Given the description of an element on the screen output the (x, y) to click on. 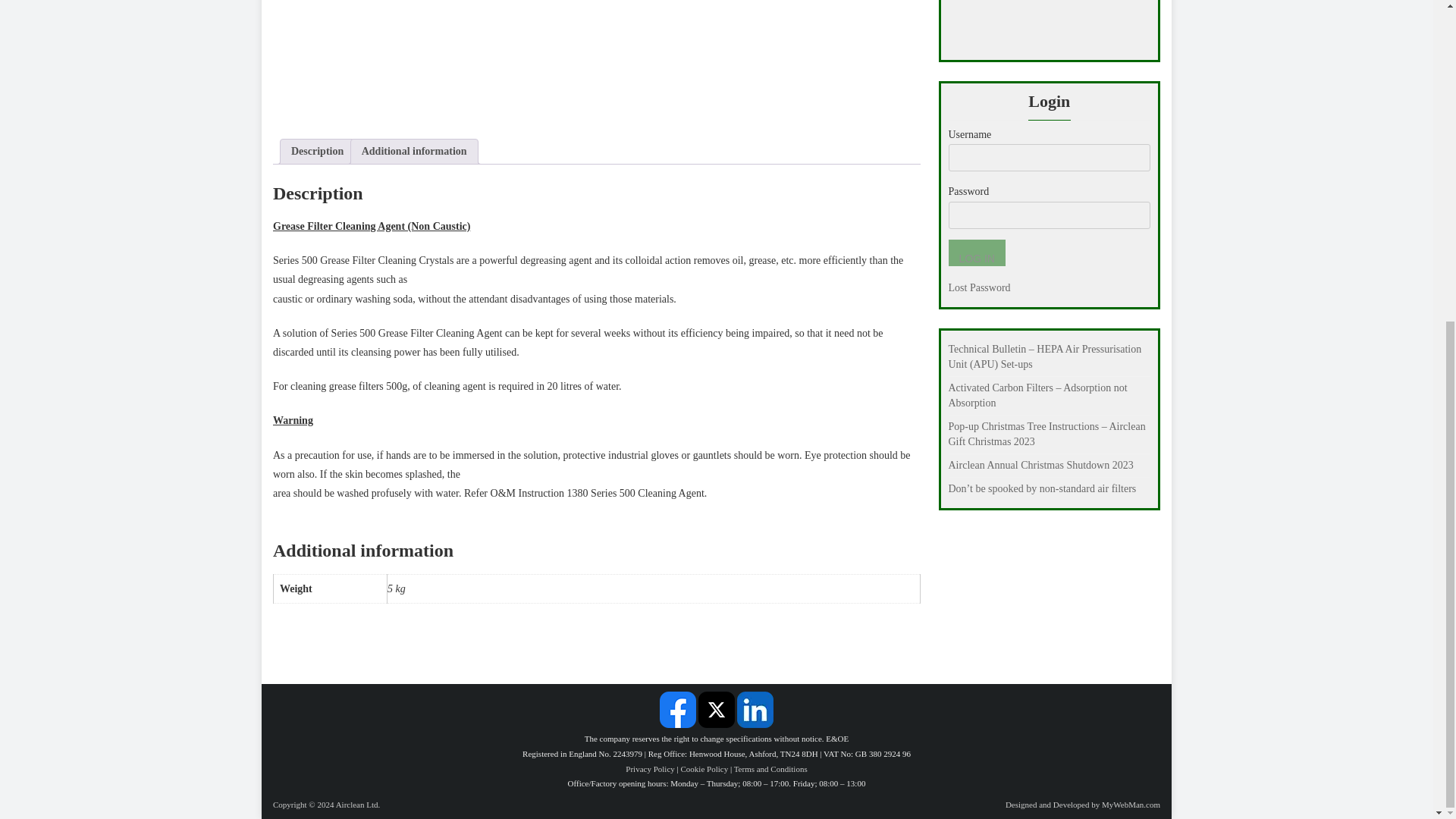
Log In (975, 252)
